Given the description of an element on the screen output the (x, y) to click on. 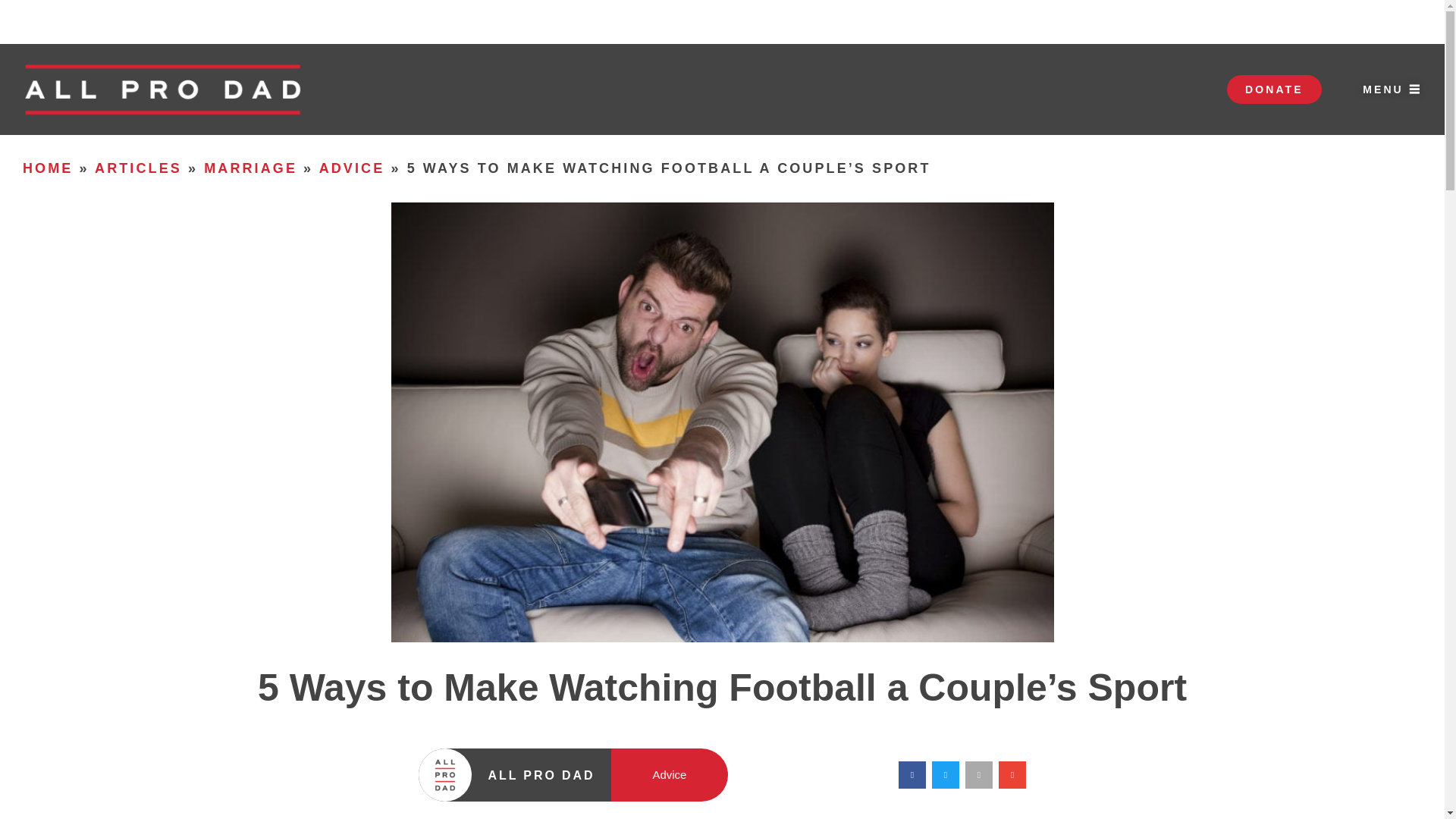
ALL PRO DAD (541, 774)
Advice (668, 774)
HOME (47, 168)
ADVICE (351, 168)
MARRIAGE (250, 168)
ARTICLES (138, 168)
DONATE (1274, 89)
